Given the description of an element on the screen output the (x, y) to click on. 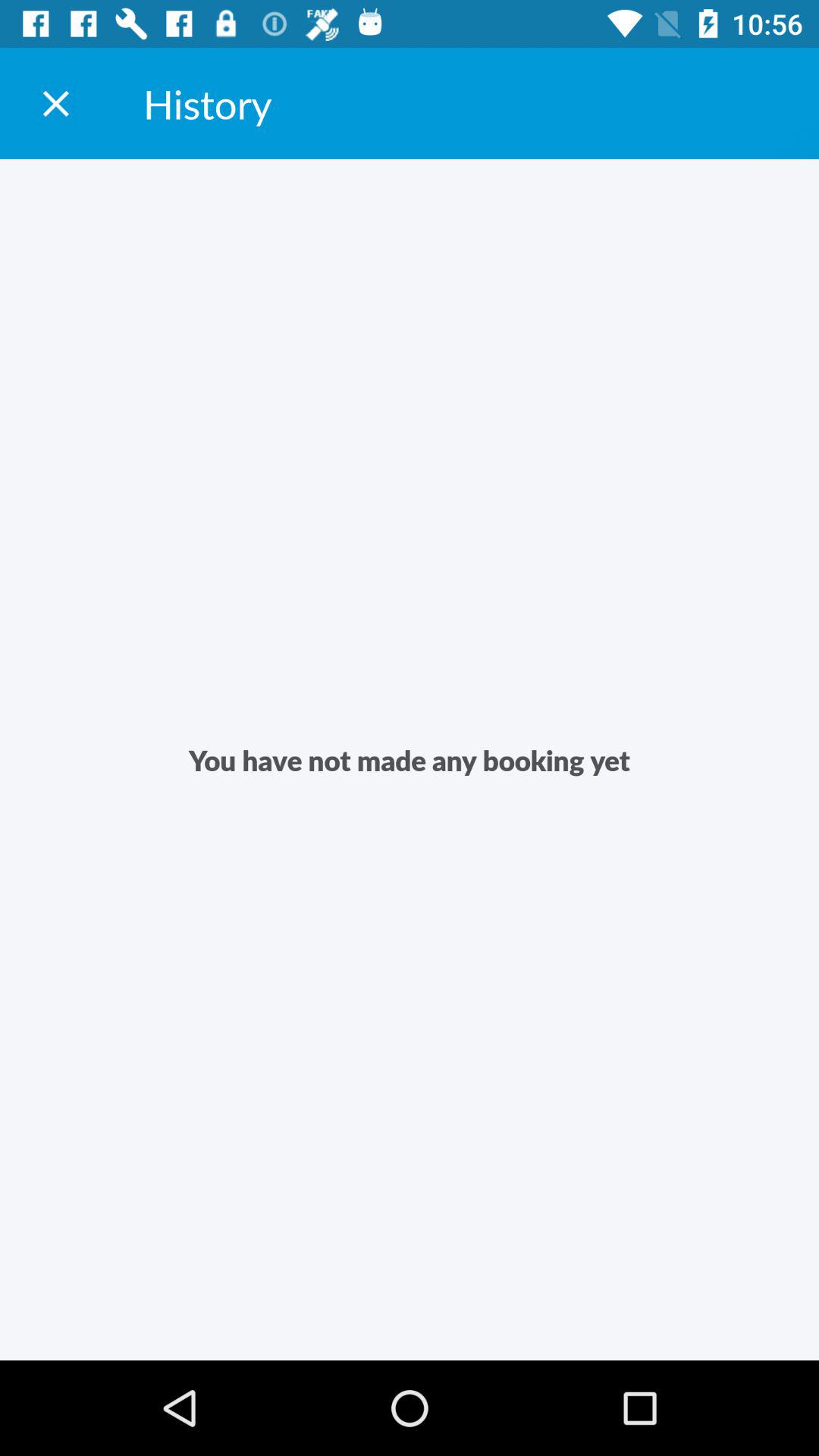
close page (55, 103)
